Given the description of an element on the screen output the (x, y) to click on. 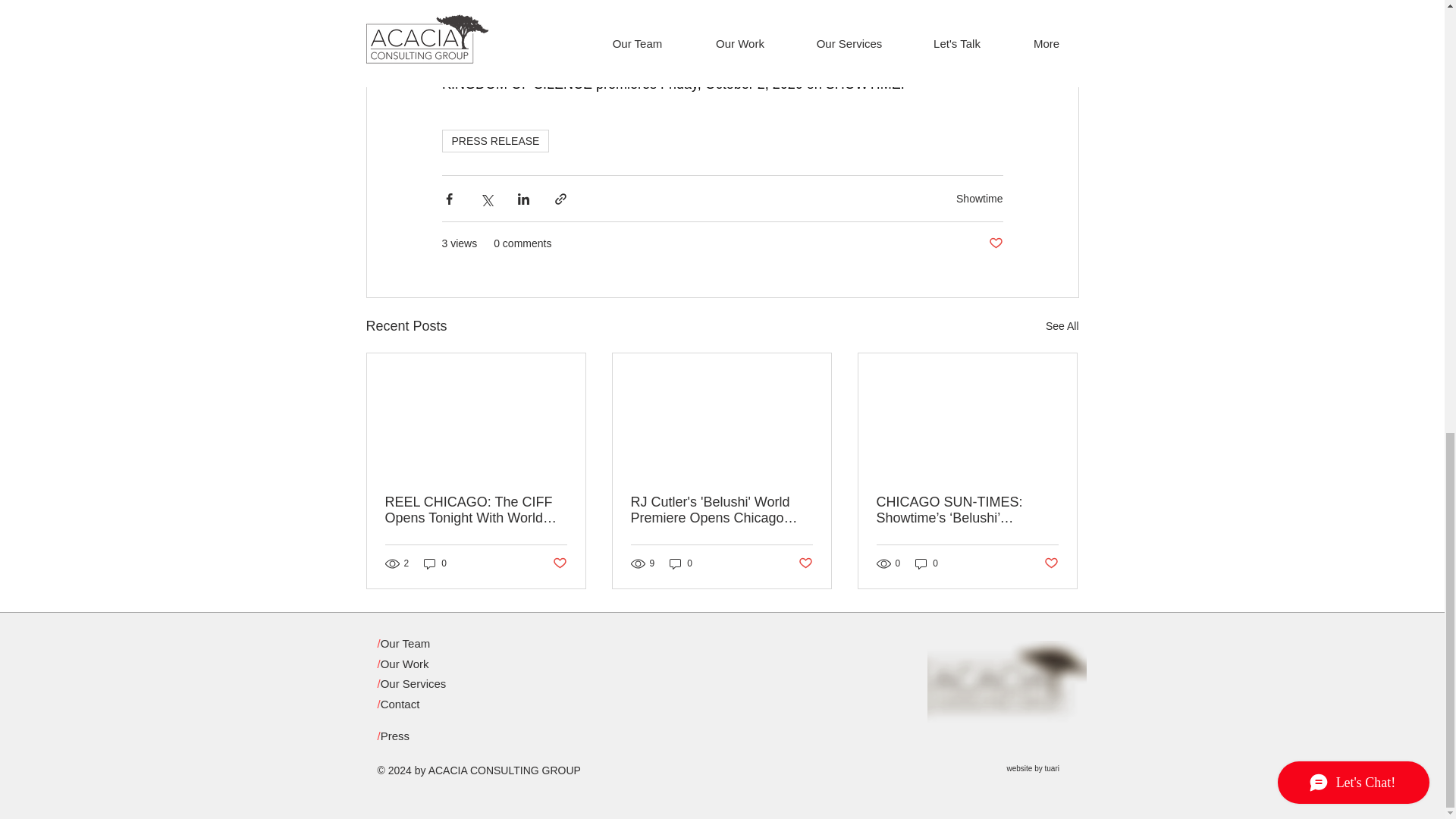
0 (435, 563)
Post not marked as liked (995, 243)
PRESS RELEASE (494, 140)
Post not marked as liked (804, 563)
Post not marked as liked (558, 563)
0 (681, 563)
website by tuari (1033, 768)
See All (1061, 326)
0 (926, 563)
Showtime (979, 197)
Post not marked as liked (1050, 563)
